Given the description of an element on the screen output the (x, y) to click on. 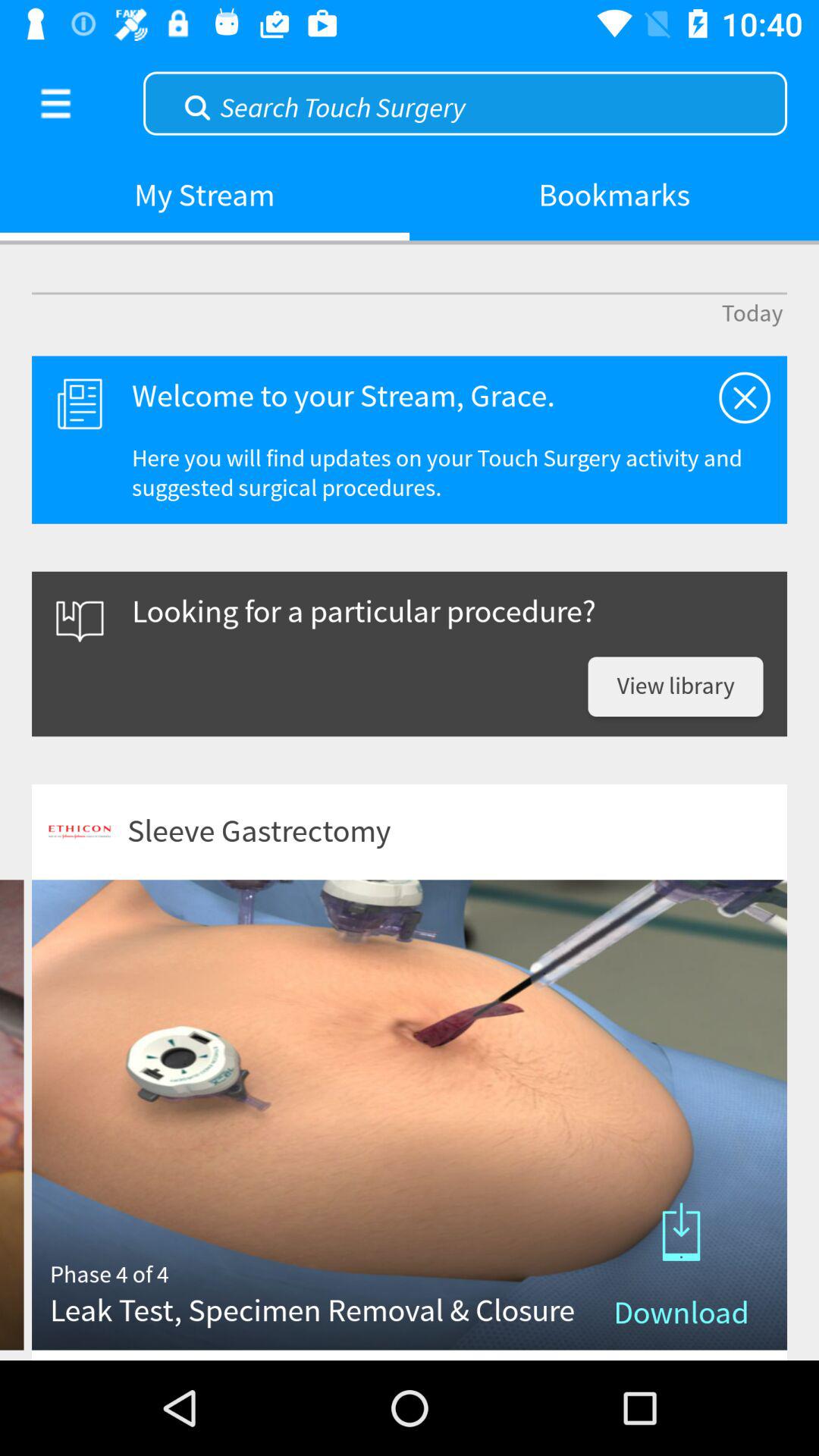
click item next to the welcome to your (744, 397)
